Given the description of an element on the screen output the (x, y) to click on. 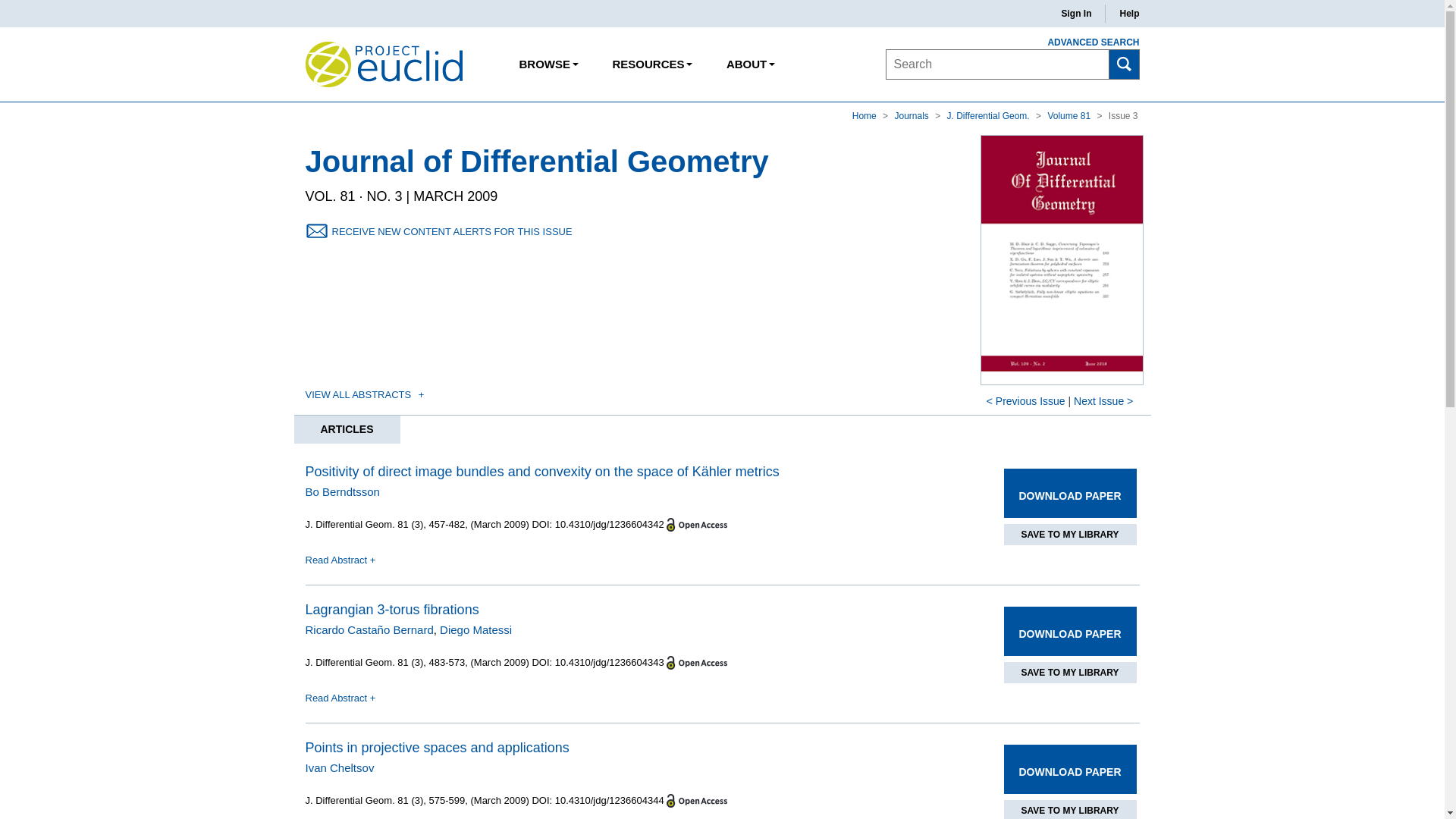
Sign In (1075, 13)
RECEIVE NEW CONTENT ALERTS FOR THIS ISSUE (451, 231)
Journals (912, 115)
RESOURCES (651, 64)
Previous Issue (1030, 400)
ABOUT (750, 64)
Next Issue (1099, 400)
Home (865, 115)
Journal of Differential Geometry (536, 163)
Home (865, 115)
